Given the description of an element on the screen output the (x, y) to click on. 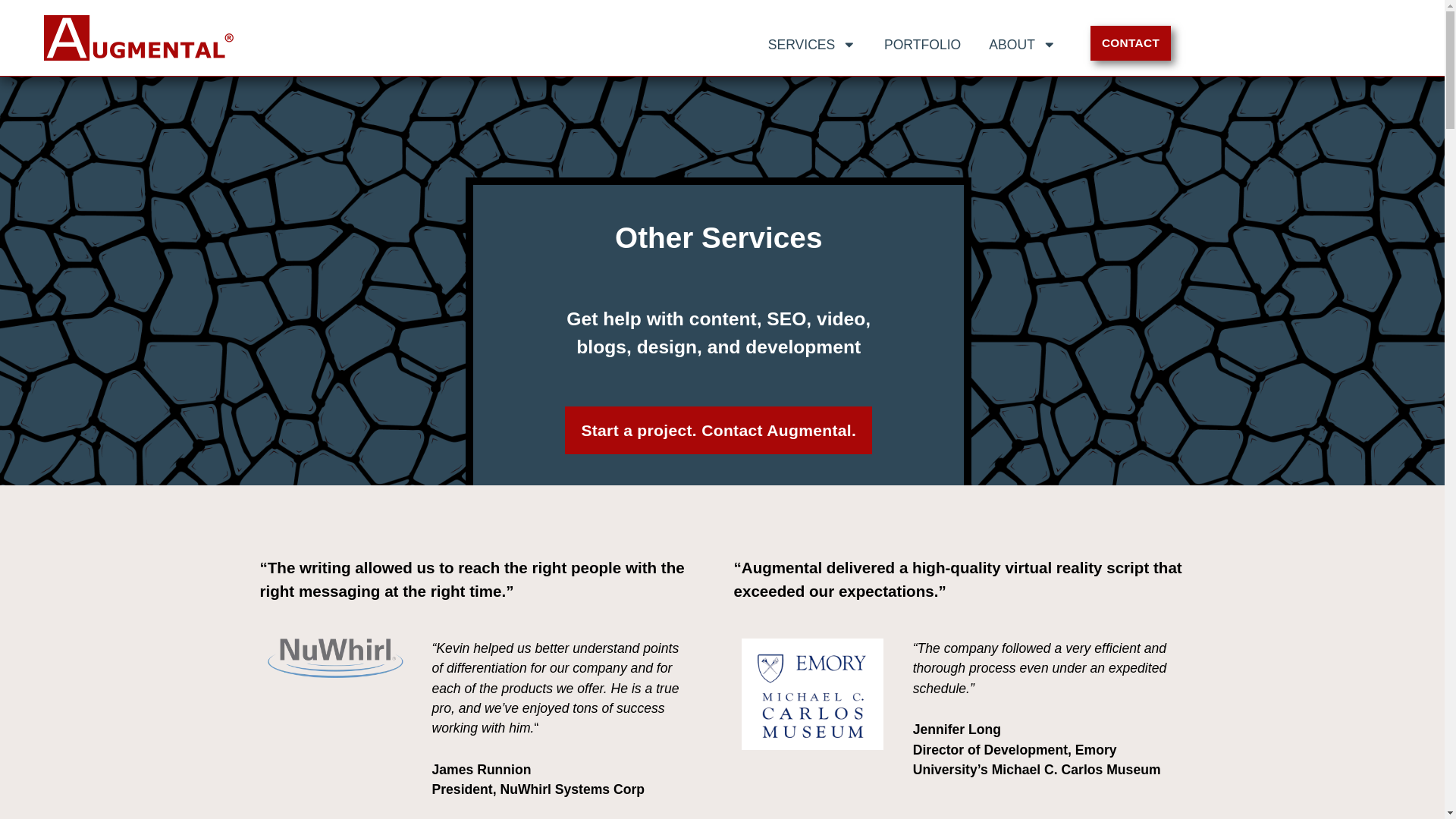
PORTFOLIO (922, 44)
SERVICES (811, 44)
CONTACT (1131, 42)
ABOUT (1021, 44)
augmental-logo (137, 37)
